Given the description of an element on the screen output the (x, y) to click on. 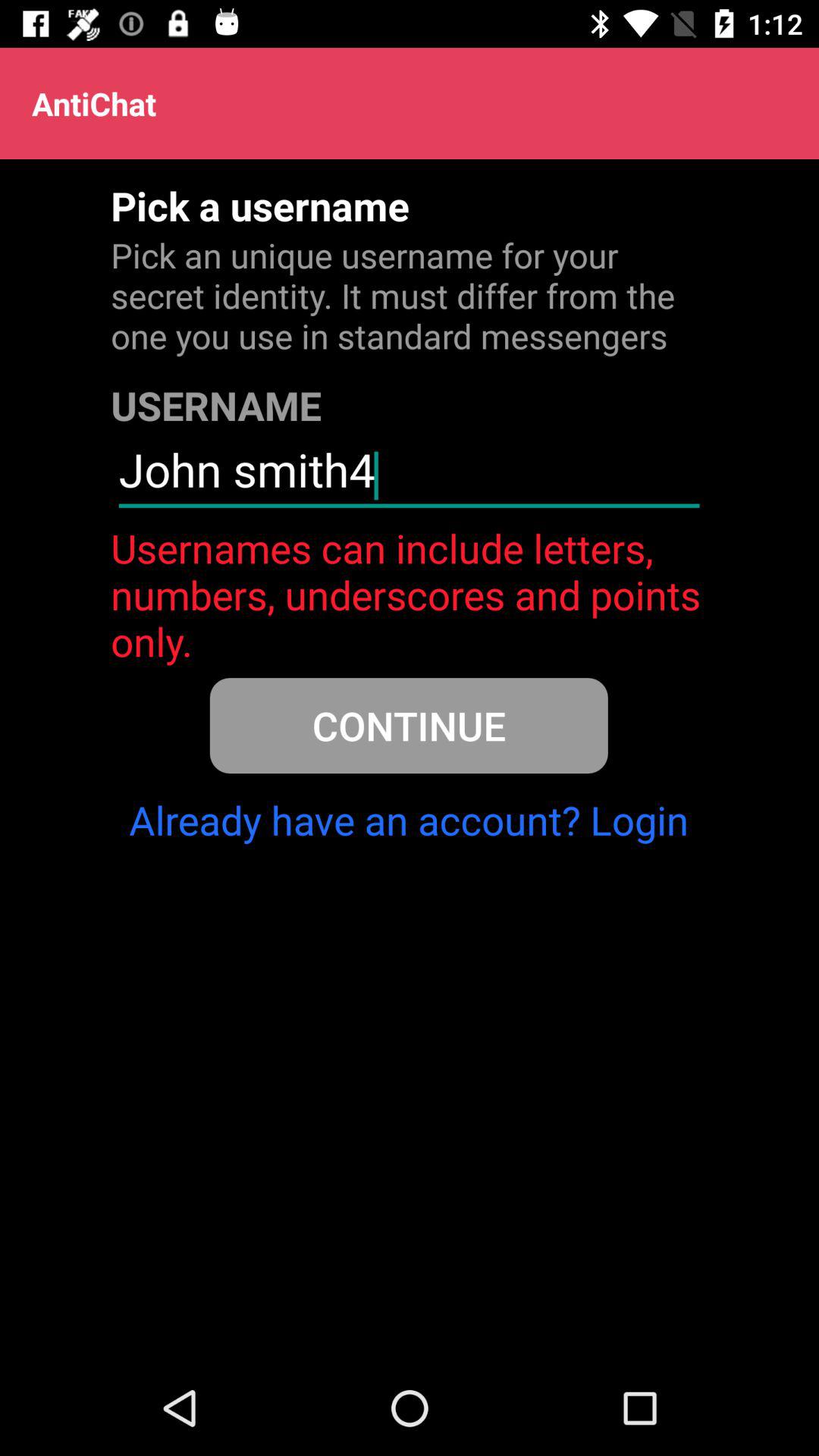
tap the icon above the usernames can include icon (408, 476)
